Given the description of an element on the screen output the (x, y) to click on. 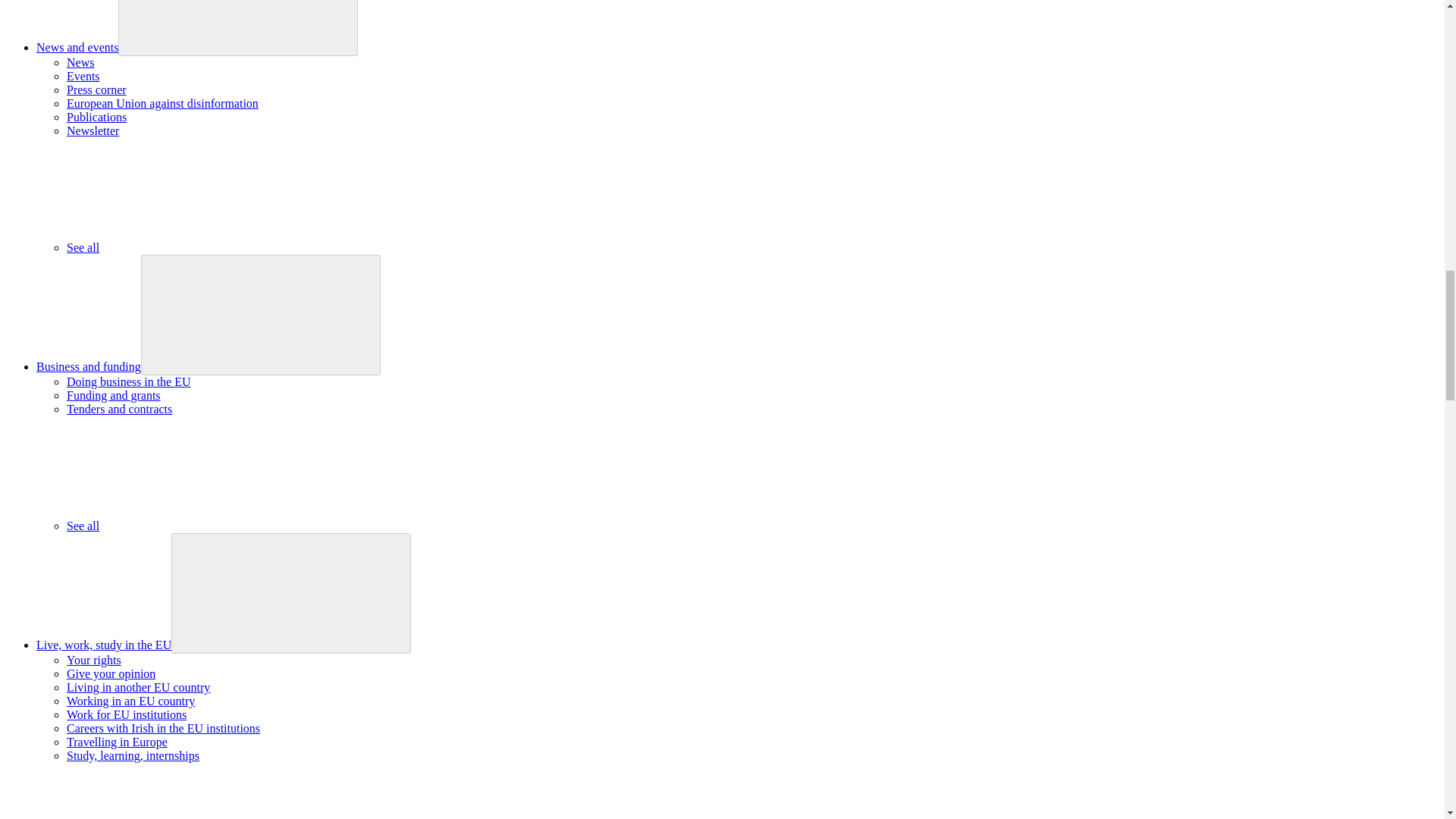
Business and funding (88, 366)
See all (196, 246)
News and events (76, 47)
Newsletter (92, 130)
News (80, 62)
Publications (96, 116)
European Union against disinformation (162, 103)
Events (83, 75)
Press corner (96, 89)
